Given the description of an element on the screen output the (x, y) to click on. 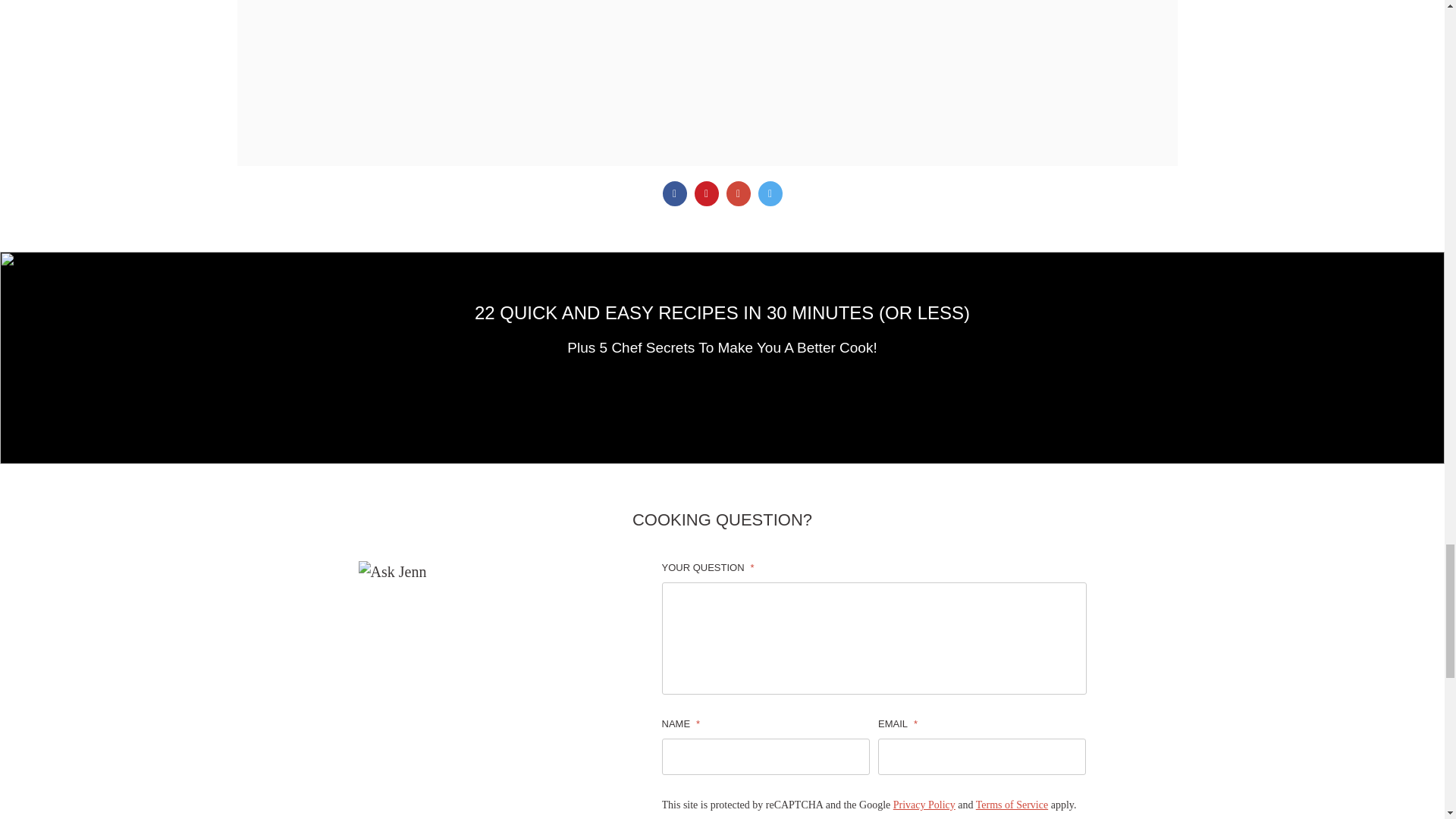
Email (738, 193)
Share (674, 193)
Pin (706, 193)
Tweet (770, 193)
